Given the description of an element on the screen output the (x, y) to click on. 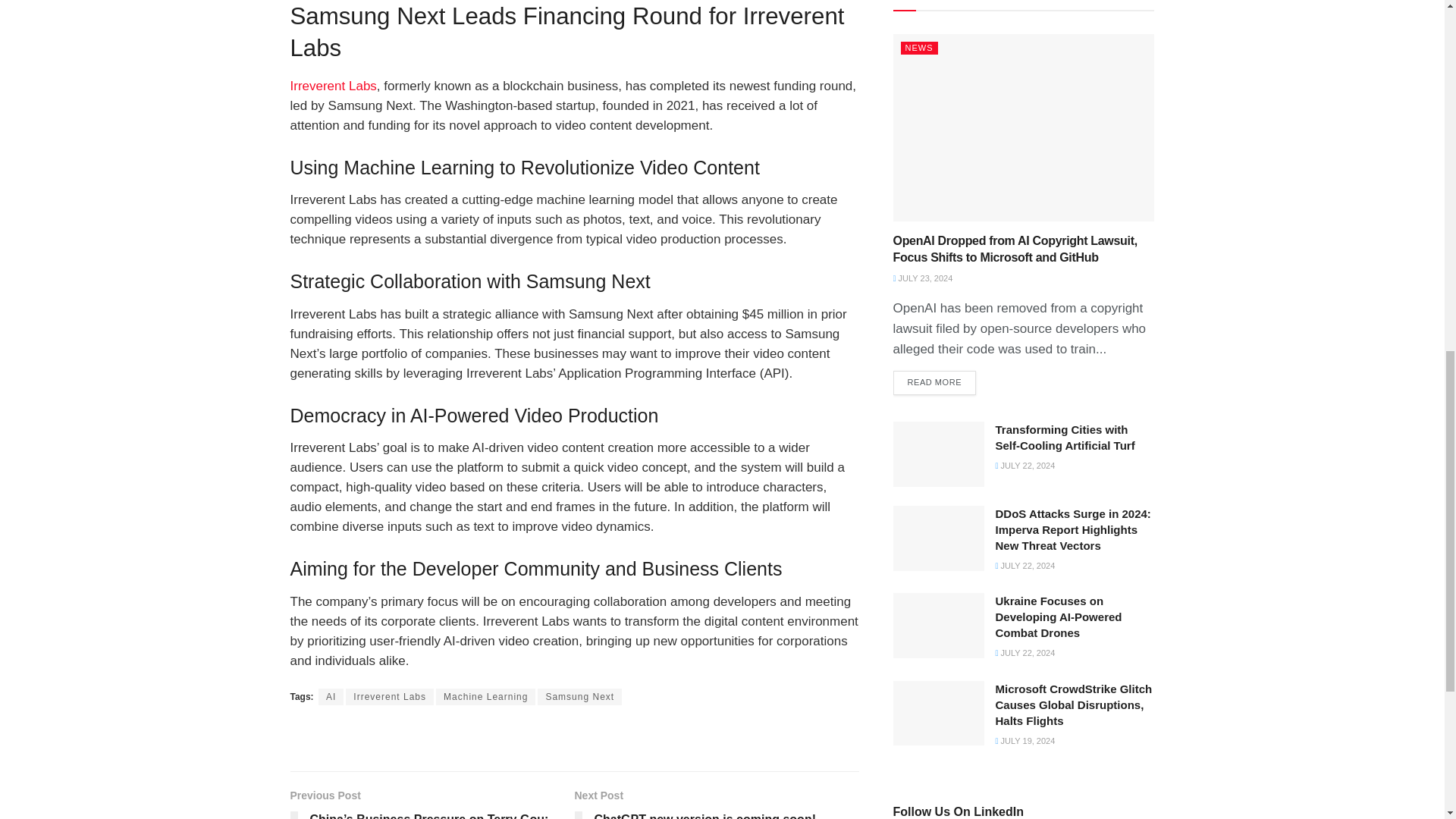
Samsung Next (579, 696)
AI (330, 696)
Irreverent Labs (389, 696)
Machine Learning (485, 696)
Irreverent Labs (332, 85)
Irreverent Labs (332, 85)
